Given the description of an element on the screen output the (x, y) to click on. 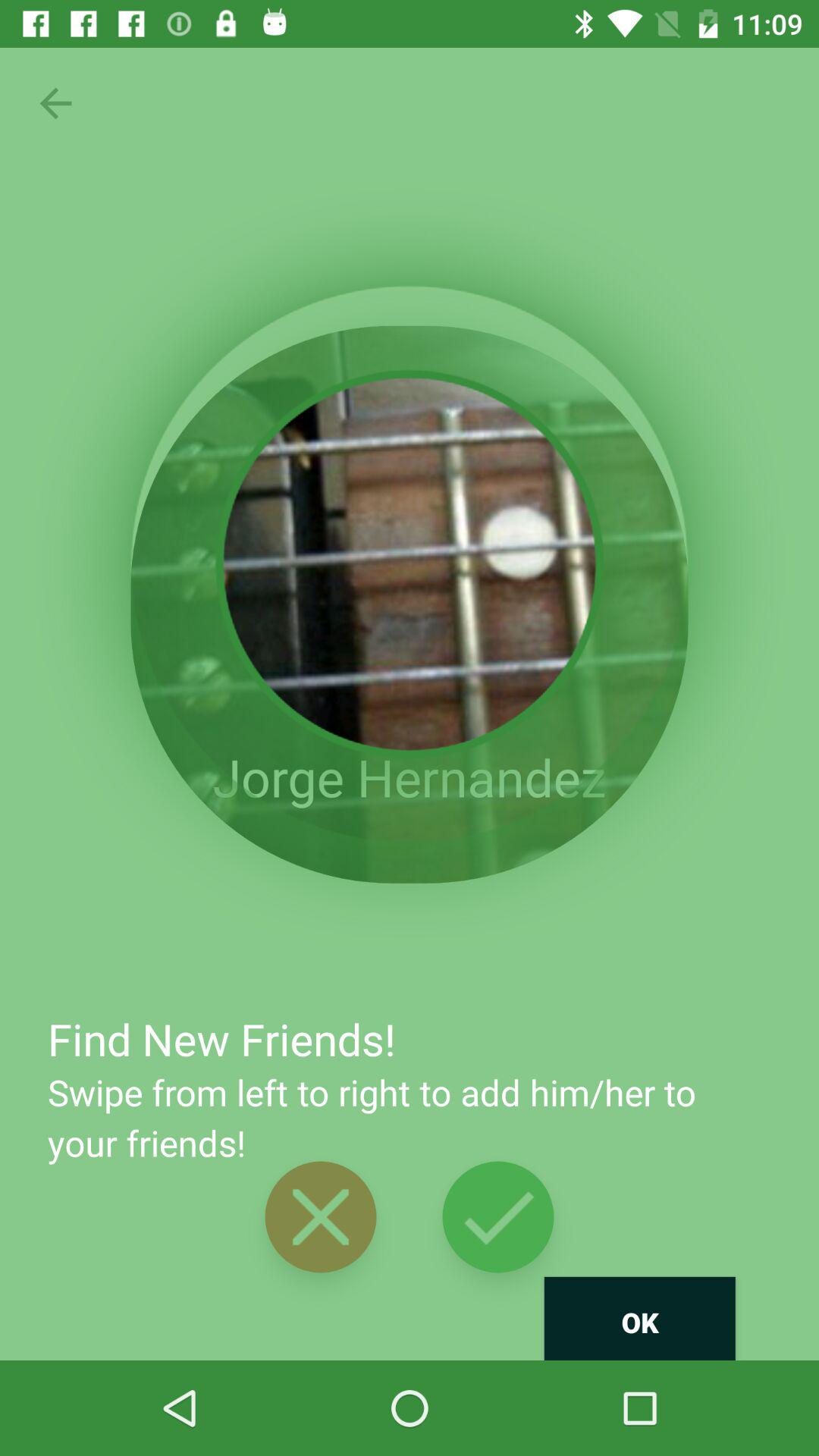
select the text at right corner bottom of page below right click (639, 1324)
click the right mark (498, 1216)
click the cancel icon (320, 1216)
click the image above find new friends (409, 604)
